Given the description of an element on the screen output the (x, y) to click on. 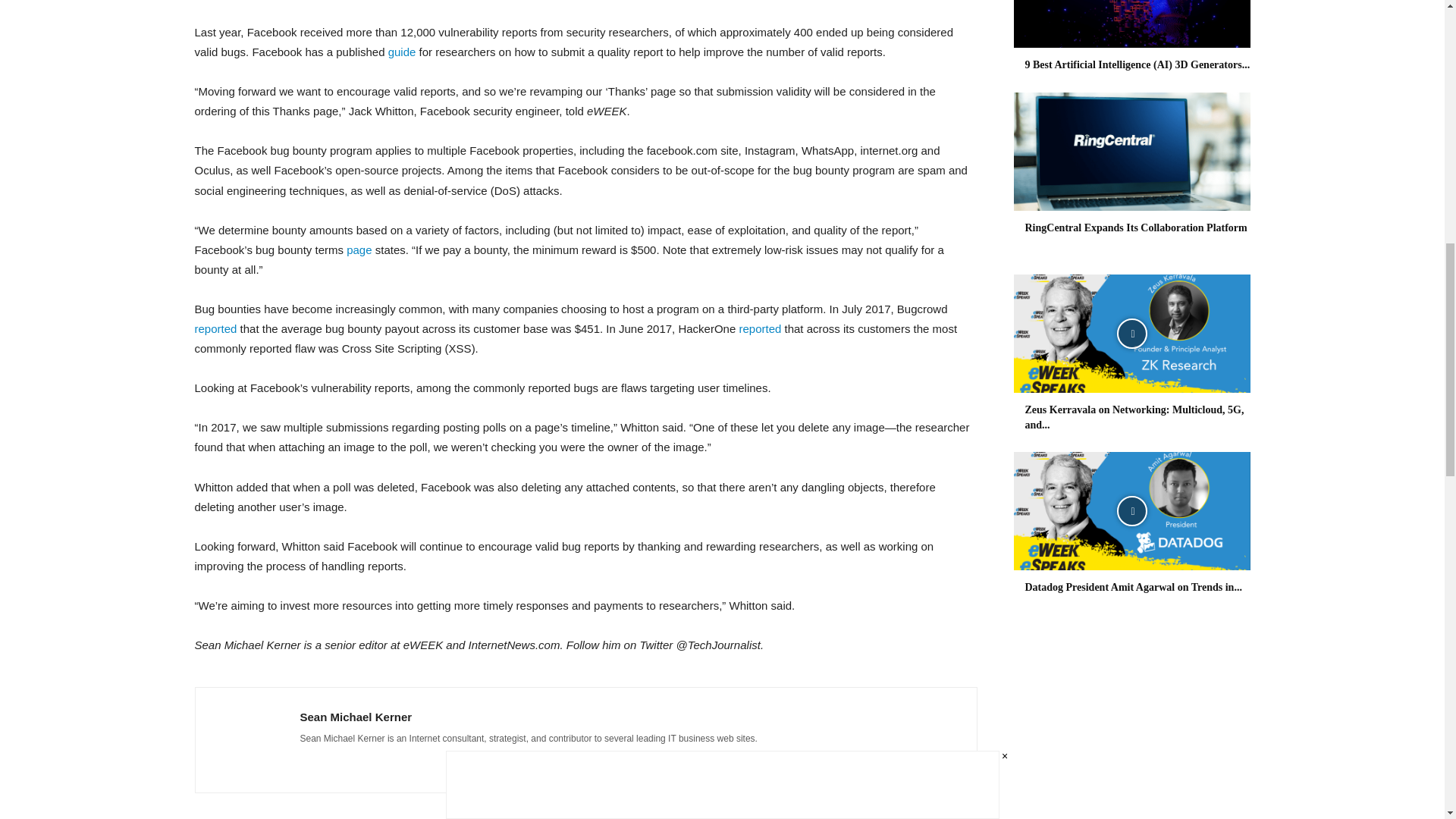
RingCentral Expands Its Collaboration Platform (1131, 151)
Zeus Kerravala on Networking: Multicloud, 5G, and Automation (1134, 417)
Zeus Kerravala on Networking: Multicloud, 5G, and Automation (1131, 333)
RingCentral Expands Its Collaboration Platform (1136, 227)
